Given the description of an element on the screen output the (x, y) to click on. 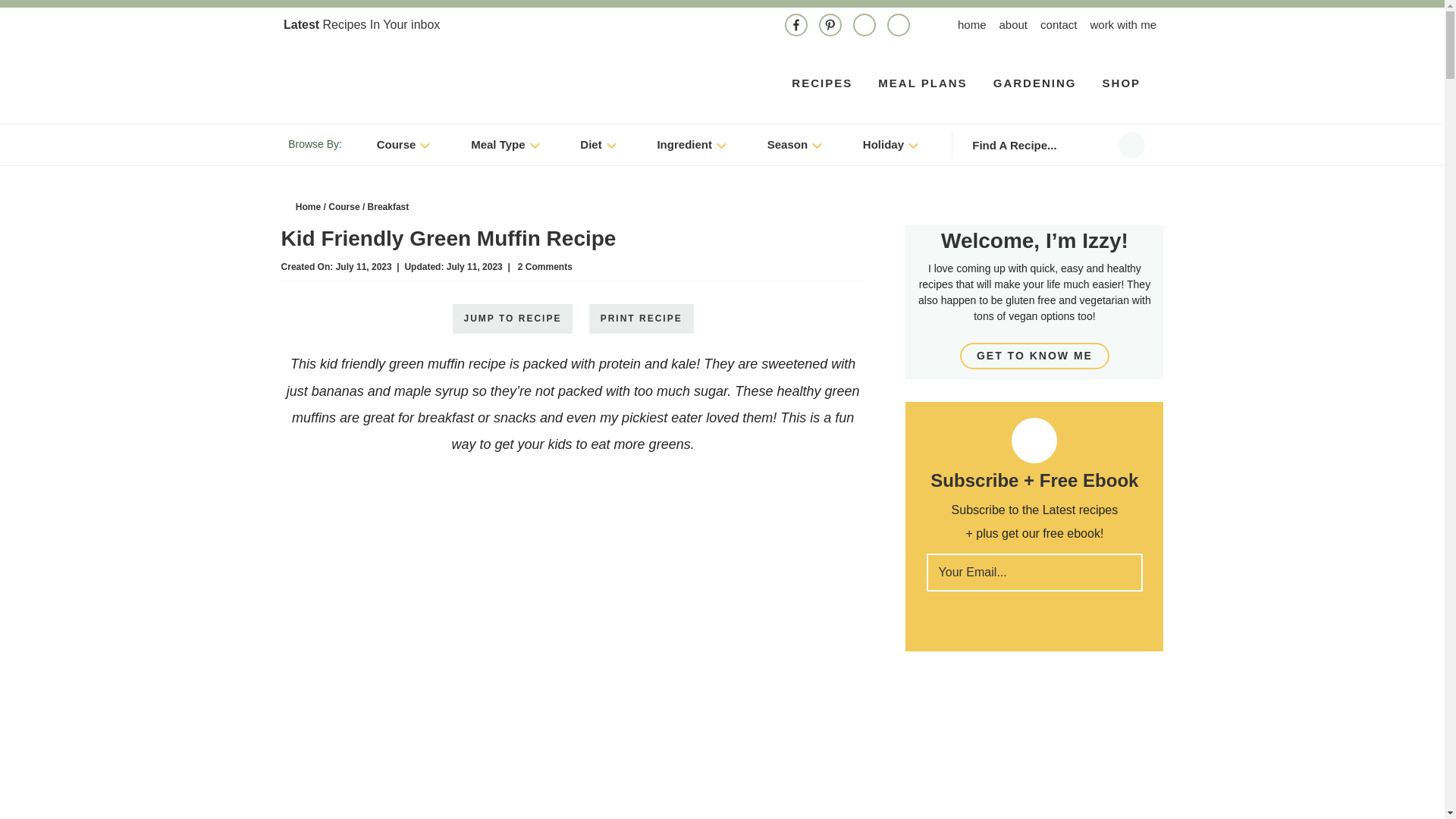
Latest Recipes In Your inbox (367, 24)
Course (405, 144)
SHE LIKES FOOD (413, 79)
work with me (1122, 24)
JUMP TO RECIPE (511, 318)
home (972, 24)
RECIPES (821, 82)
GARDENING (1034, 82)
Search (1131, 144)
MEAL PLANS (921, 82)
contact (1058, 24)
about (1013, 24)
SHOP (1121, 82)
Search (1131, 144)
